Given the description of an element on the screen output the (x, y) to click on. 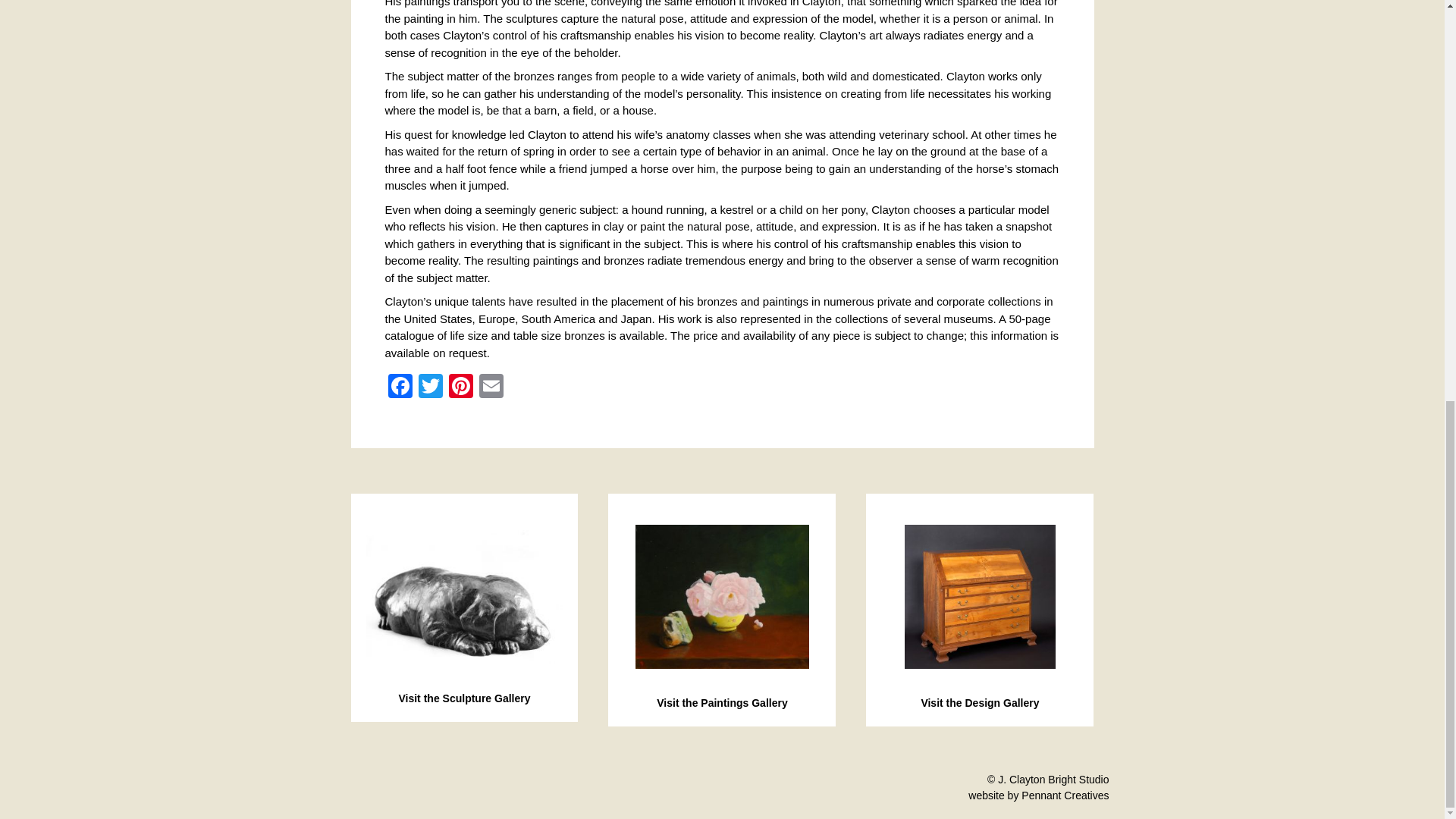
Twitter (429, 387)
Visit the Sculpture Gallery (463, 706)
Email (491, 387)
Facebook (399, 387)
Visit the Design Gallery (979, 710)
Twitter (429, 387)
Pennant Creatives (1065, 795)
Pinterest (460, 387)
Email (491, 387)
Pinterest (460, 387)
Visit the Paintings Gallery (721, 710)
Facebook (399, 387)
